Given the description of an element on the screen output the (x, y) to click on. 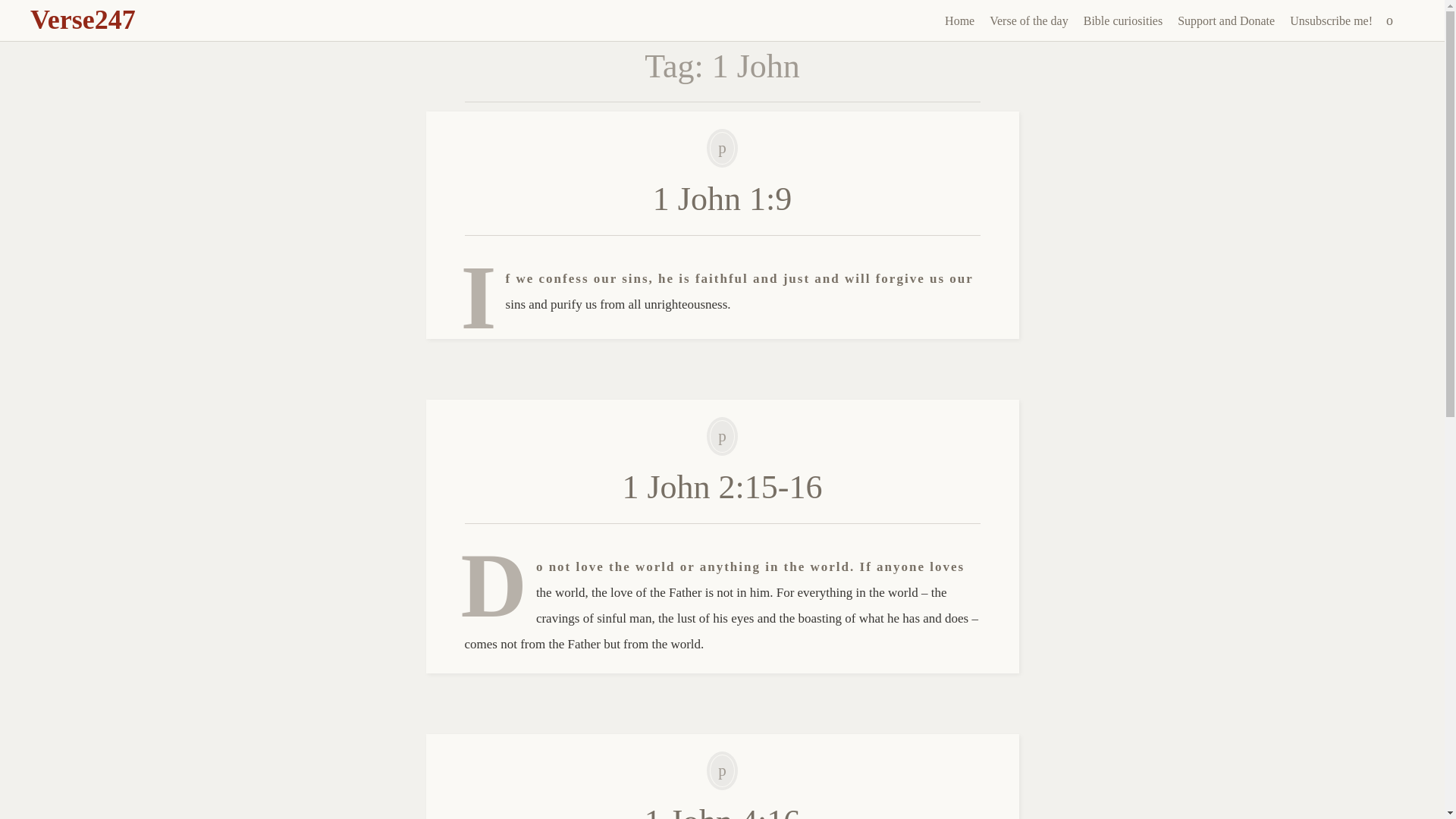
Support and Donate (1226, 21)
1 John 4:16 (722, 811)
Verse of the day (1028, 21)
1 John 2:15-16 (721, 487)
Verse247 (82, 19)
Search (11, 9)
Home (959, 21)
Verse247 (82, 19)
1 John 1:9 (722, 198)
Bible curiosities (1122, 21)
Unsubscribe me! (1331, 21)
